Given the description of an element on the screen output the (x, y) to click on. 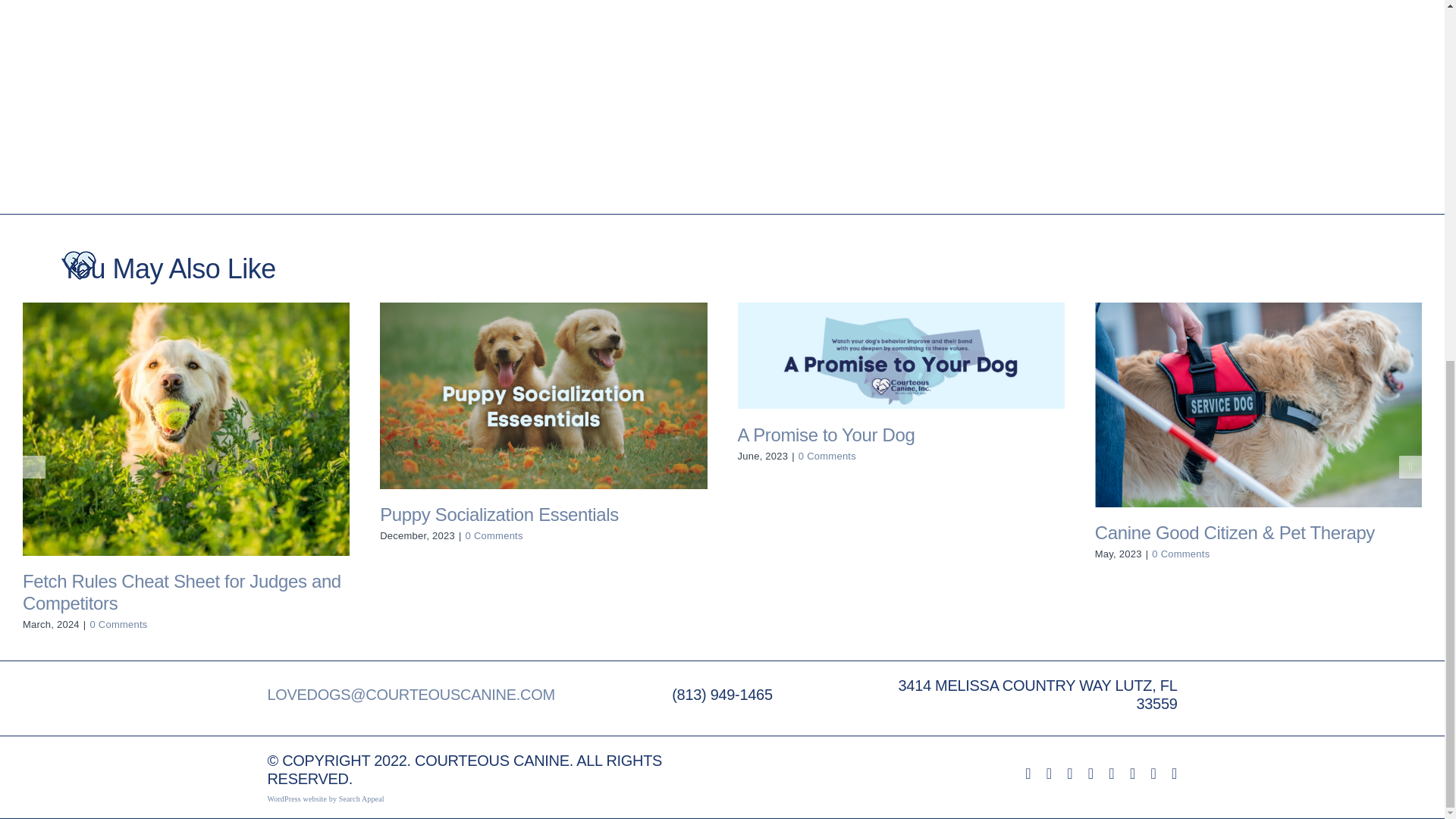
Puppy Socialization Essentials (499, 514)
A Promise to Your Dog (825, 435)
Fetch Rules Cheat Sheet for Judges and Competitors (181, 591)
